Given the description of an element on the screen output the (x, y) to click on. 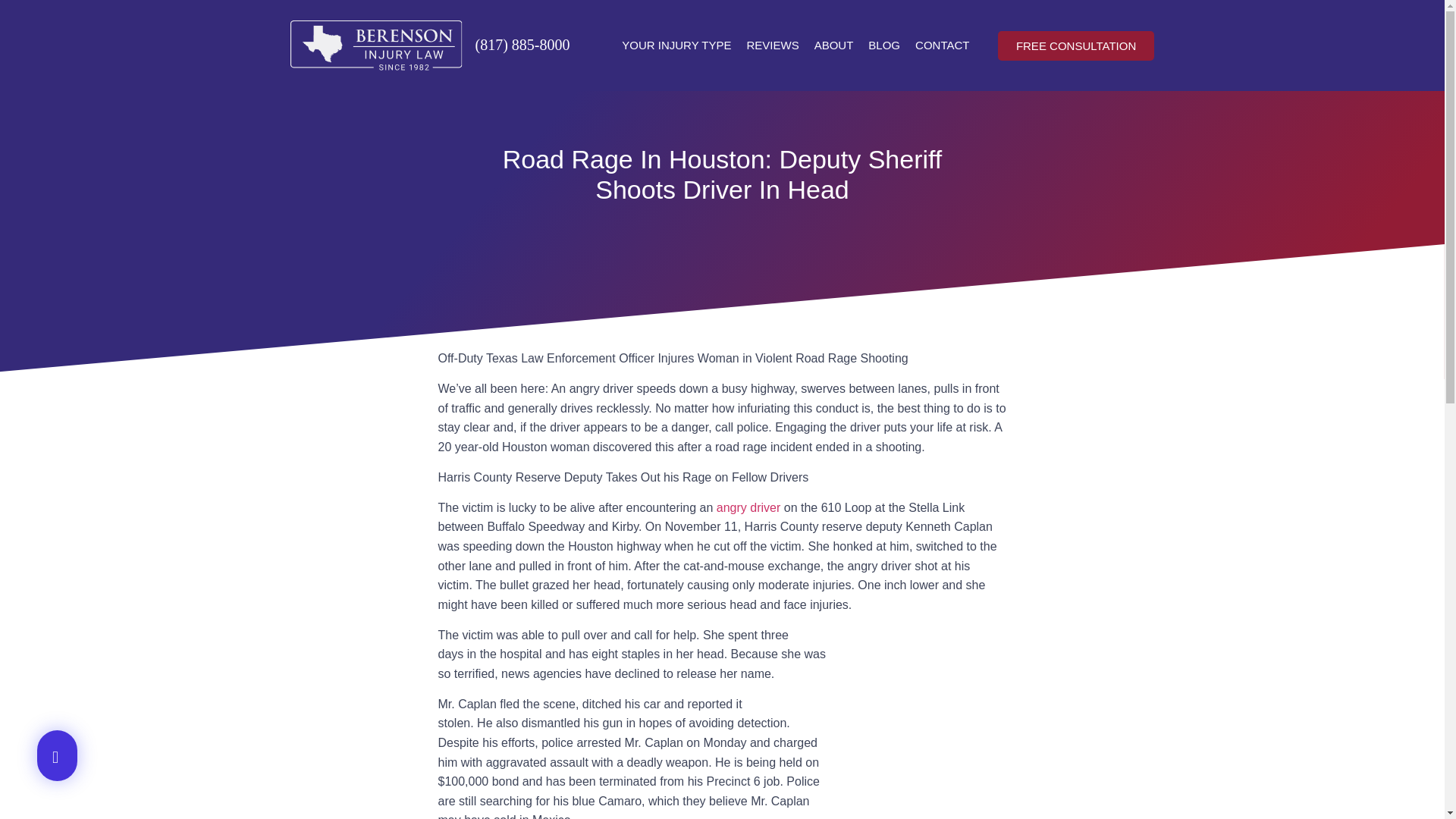
YOUR INJURY TYPE (676, 45)
